Given the description of an element on the screen output the (x, y) to click on. 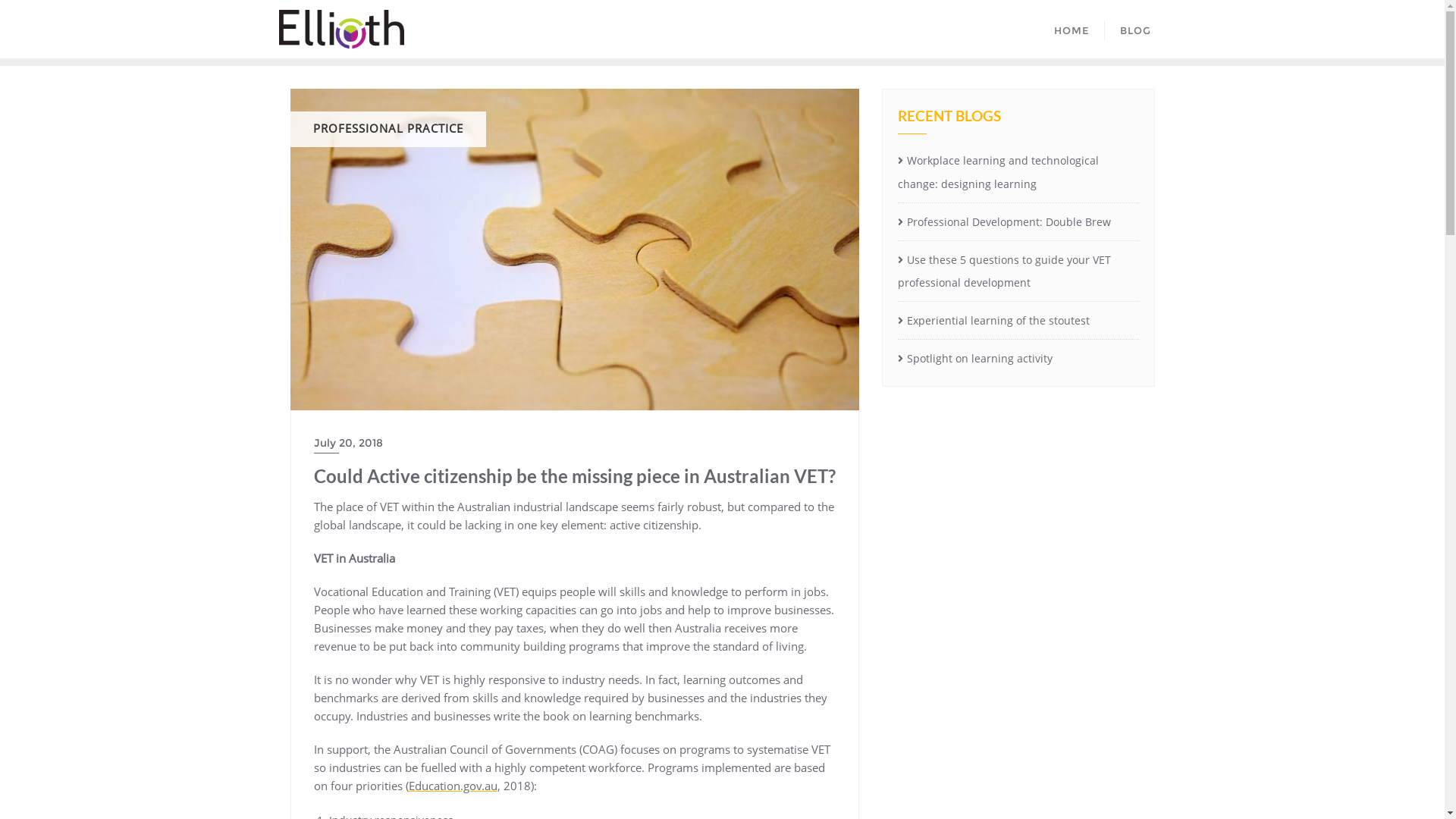
Spotlight on learning activity Element type: text (1018, 358)
July 20, 2018 Element type: text (574, 442)
Professional Development: Double Brew Element type: text (1018, 222)
Education.gov.au Element type: text (451, 785)
BLOG Element type: text (1134, 29)
Experiential learning of the stoutest Element type: text (1018, 320)
HOME Element type: text (1071, 29)
